Given the description of an element on the screen output the (x, y) to click on. 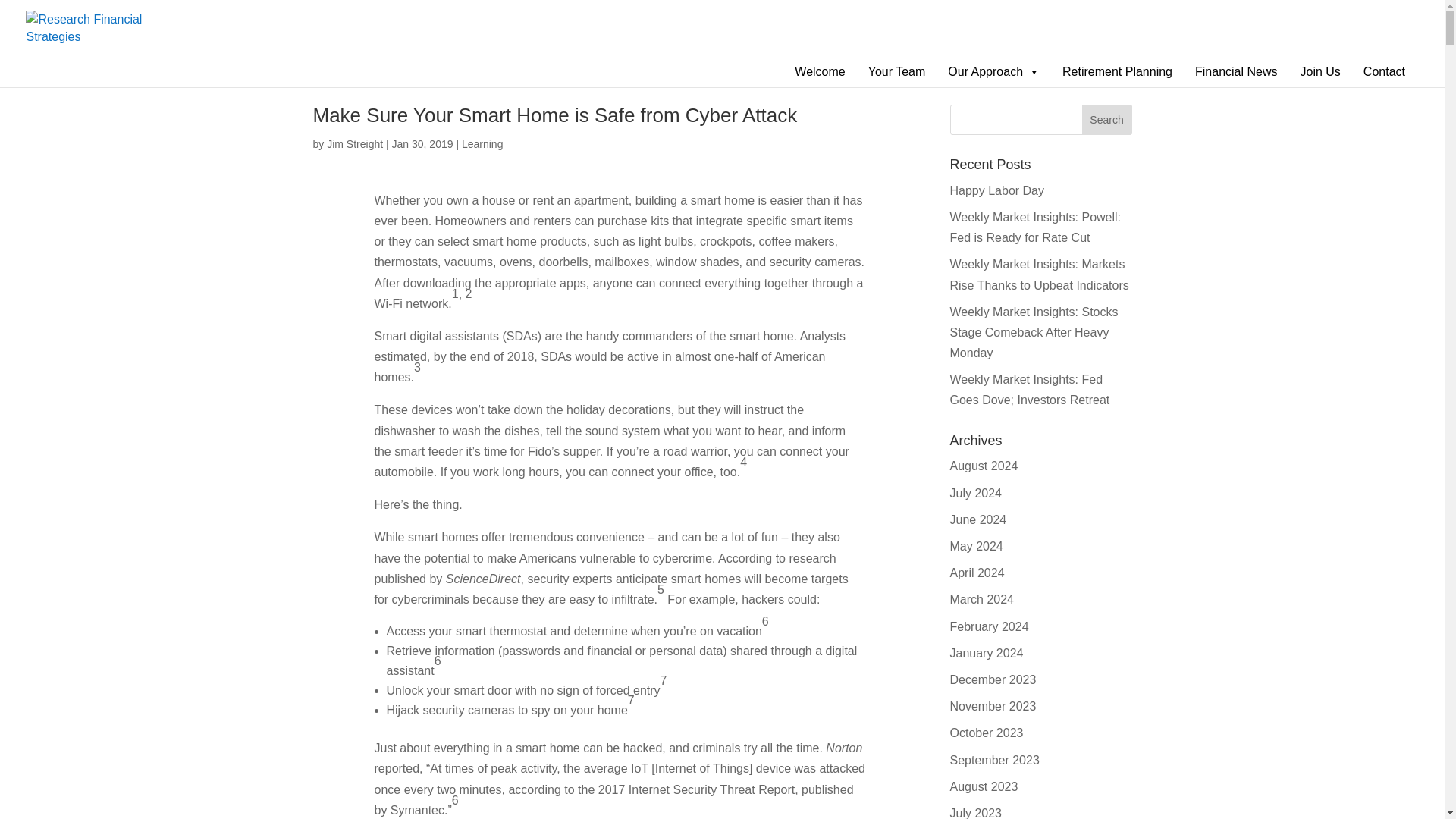
Your Team (896, 71)
Retirement Planning (1116, 71)
Financial News (1236, 71)
Jim Streight (354, 143)
Make Sure Your Smart Home is Safe from Cyber Attack (554, 115)
Search (1106, 119)
Posts by Jim Streight (354, 143)
Welcome (819, 71)
Our Approach (993, 71)
Learning (482, 143)
